Given the description of an element on the screen output the (x, y) to click on. 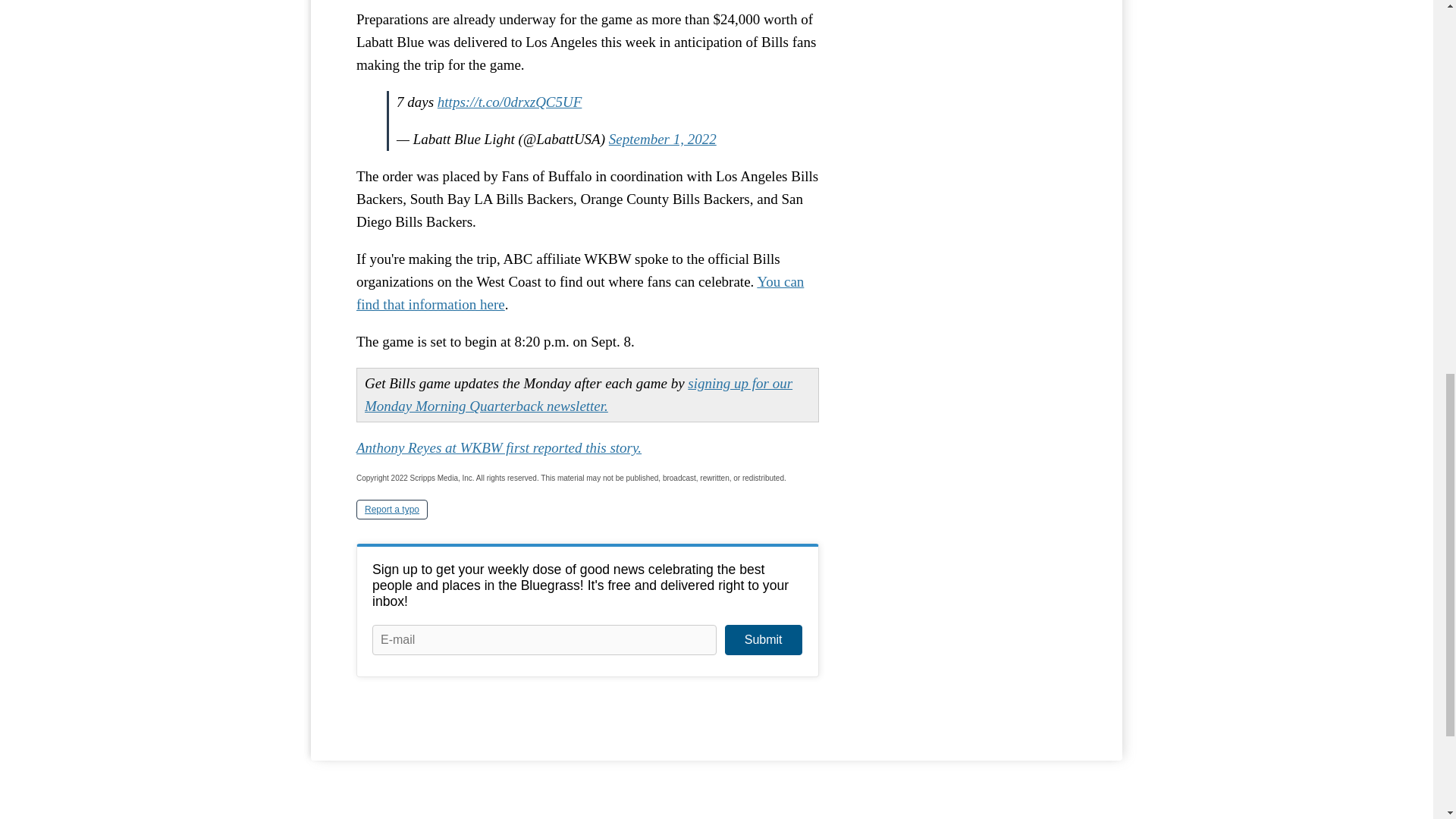
Submit (763, 639)
